Given the description of an element on the screen output the (x, y) to click on. 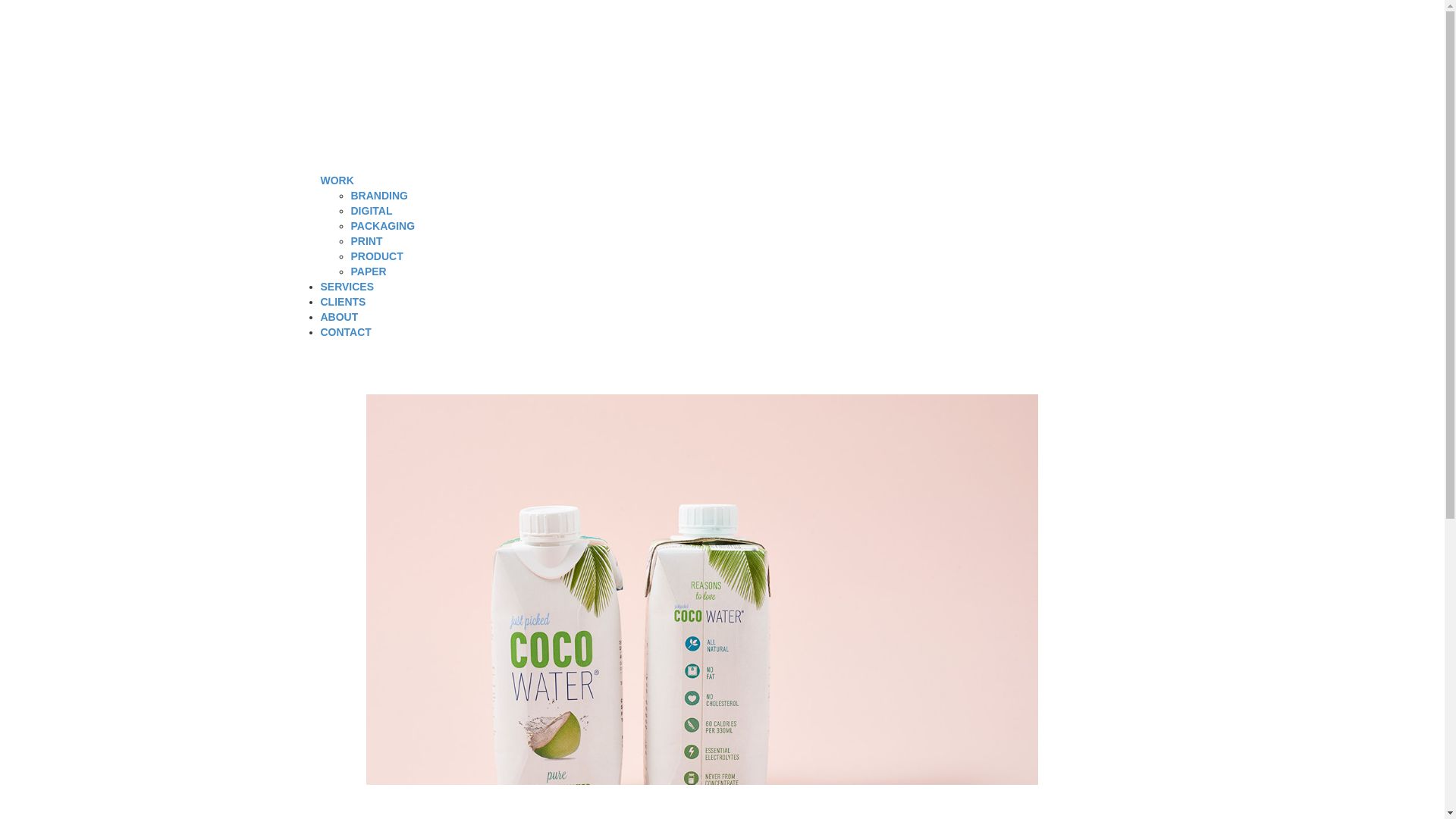
PRODUCT (376, 256)
CLIENTS (342, 301)
DIGITAL (370, 210)
PRINT (365, 241)
ABOUT (339, 316)
WORK (336, 180)
PACKAGING (382, 225)
CONTACT (345, 331)
Home (474, 106)
BRANDING (378, 195)
